Given the description of an element on the screen output the (x, y) to click on. 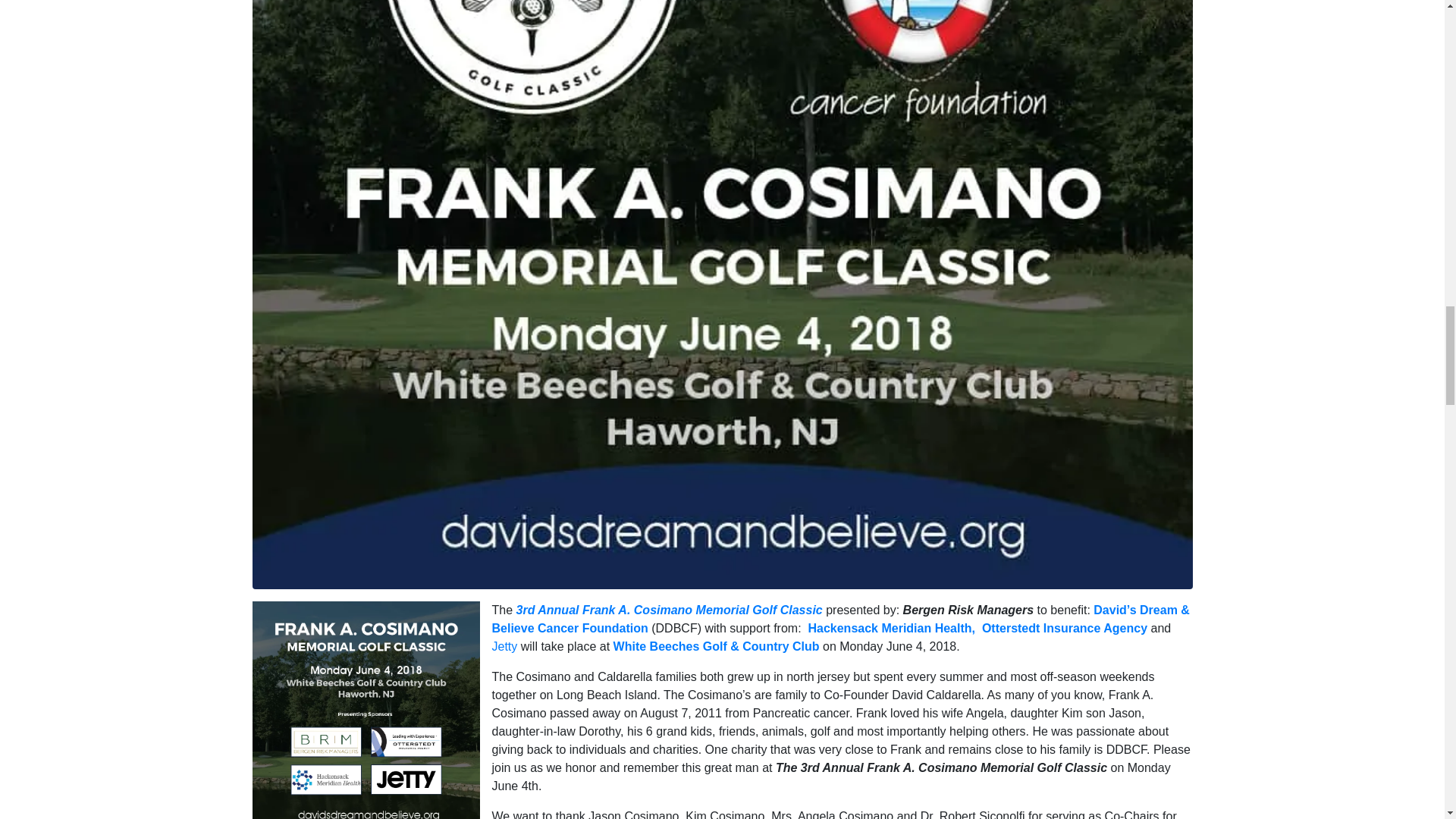
3rd Annual Frank A. Cosimano Memorial Golf Classic (721, 117)
